Given the description of an element on the screen output the (x, y) to click on. 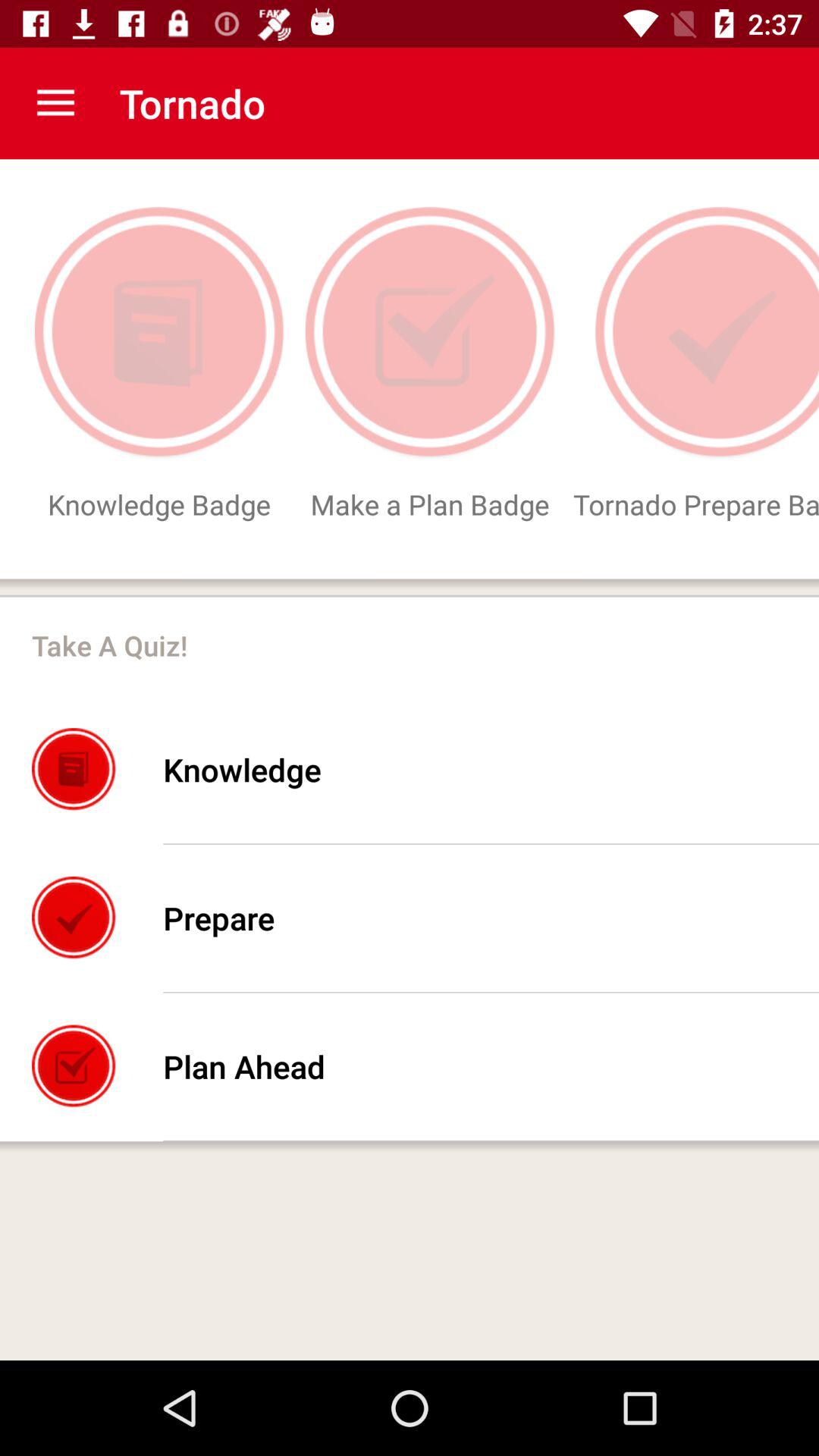
turn on the app next to the tornado (55, 103)
